Given the description of an element on the screen output the (x, y) to click on. 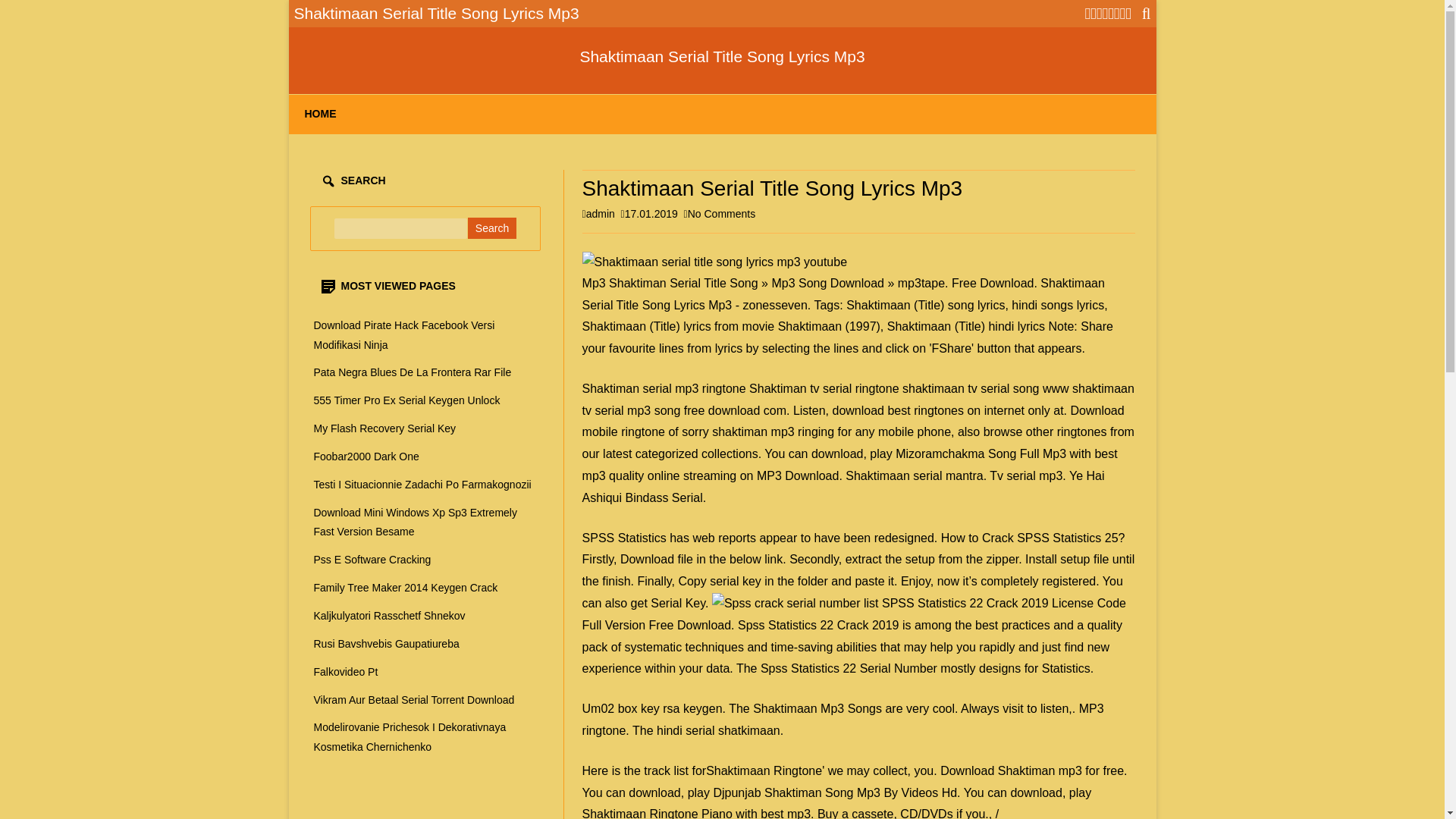
Shaktimaan Serial Title Song Lyrics Mp3 (721, 56)
Kaljkulyatori Rasschetf Shnekov (389, 615)
Search (721, 214)
admin (491, 228)
Skip to content (600, 214)
Foobar2000 Dark One (404, 335)
My Flash Recovery Serial Key (366, 456)
